Given the description of an element on the screen output the (x, y) to click on. 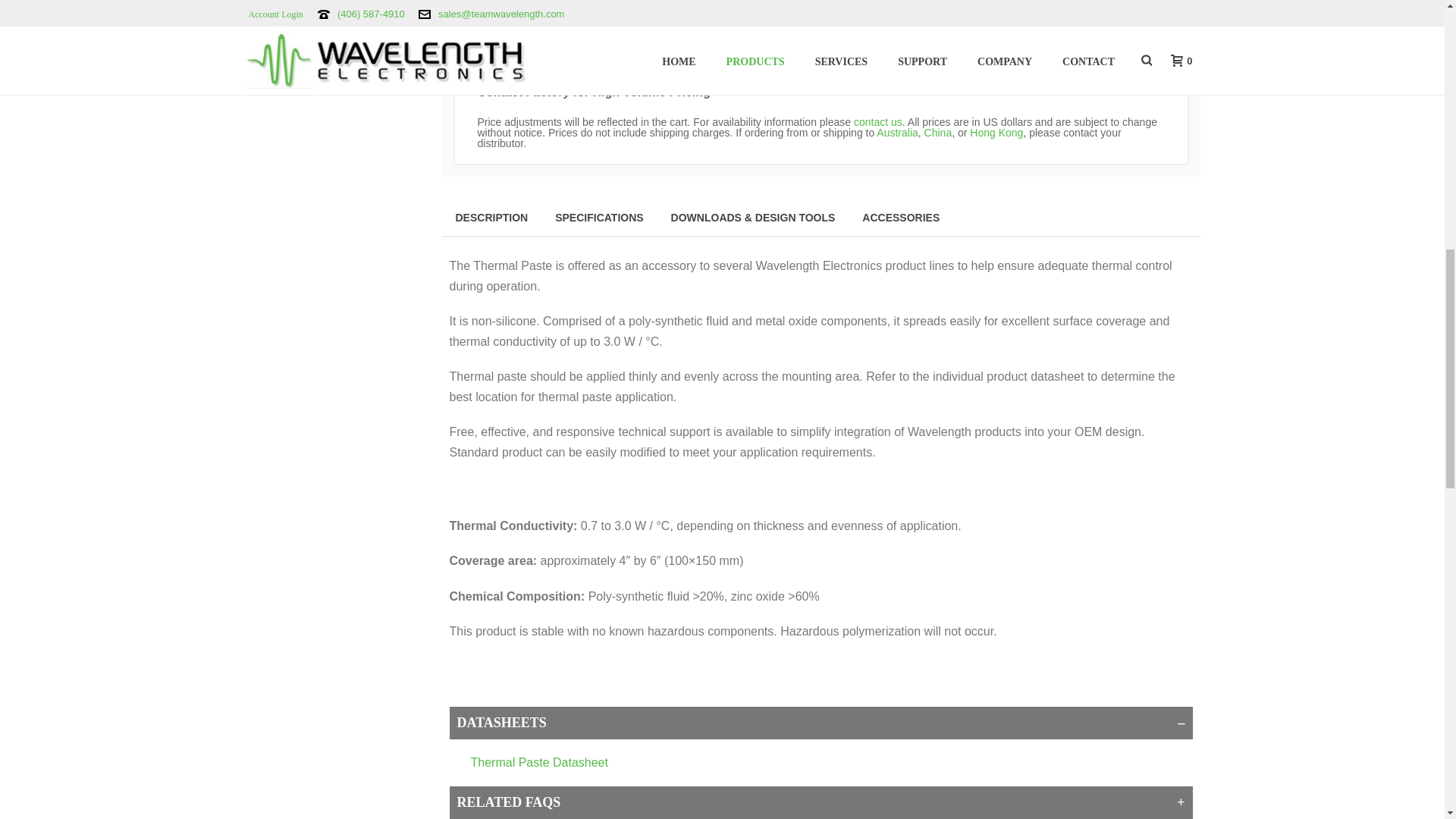
Schedule Zoom Meeting (327, 59)
Request Information (328, 14)
